Given the description of an element on the screen output the (x, y) to click on. 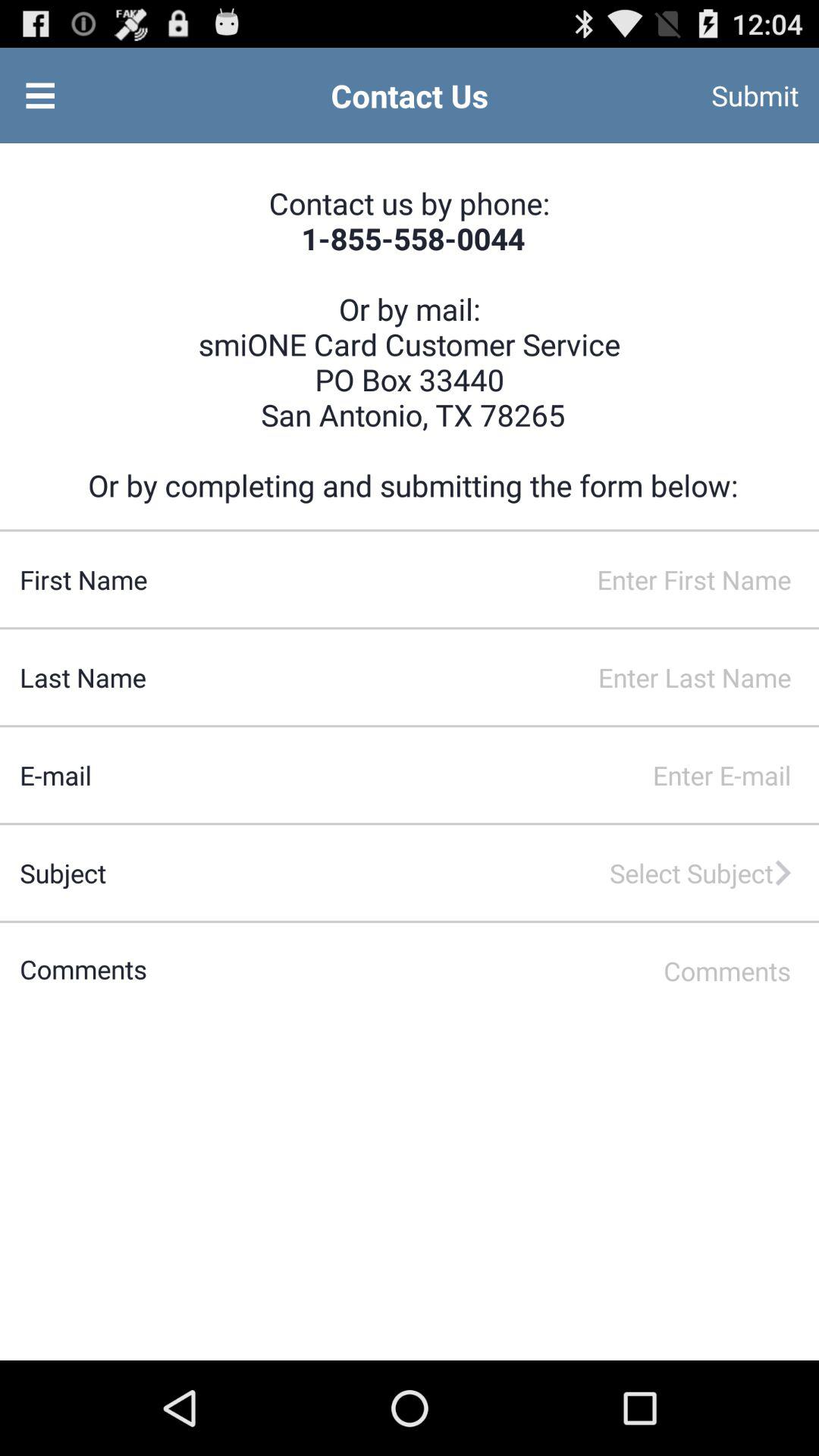
add comment (483, 970)
